Given the description of an element on the screen output the (x, y) to click on. 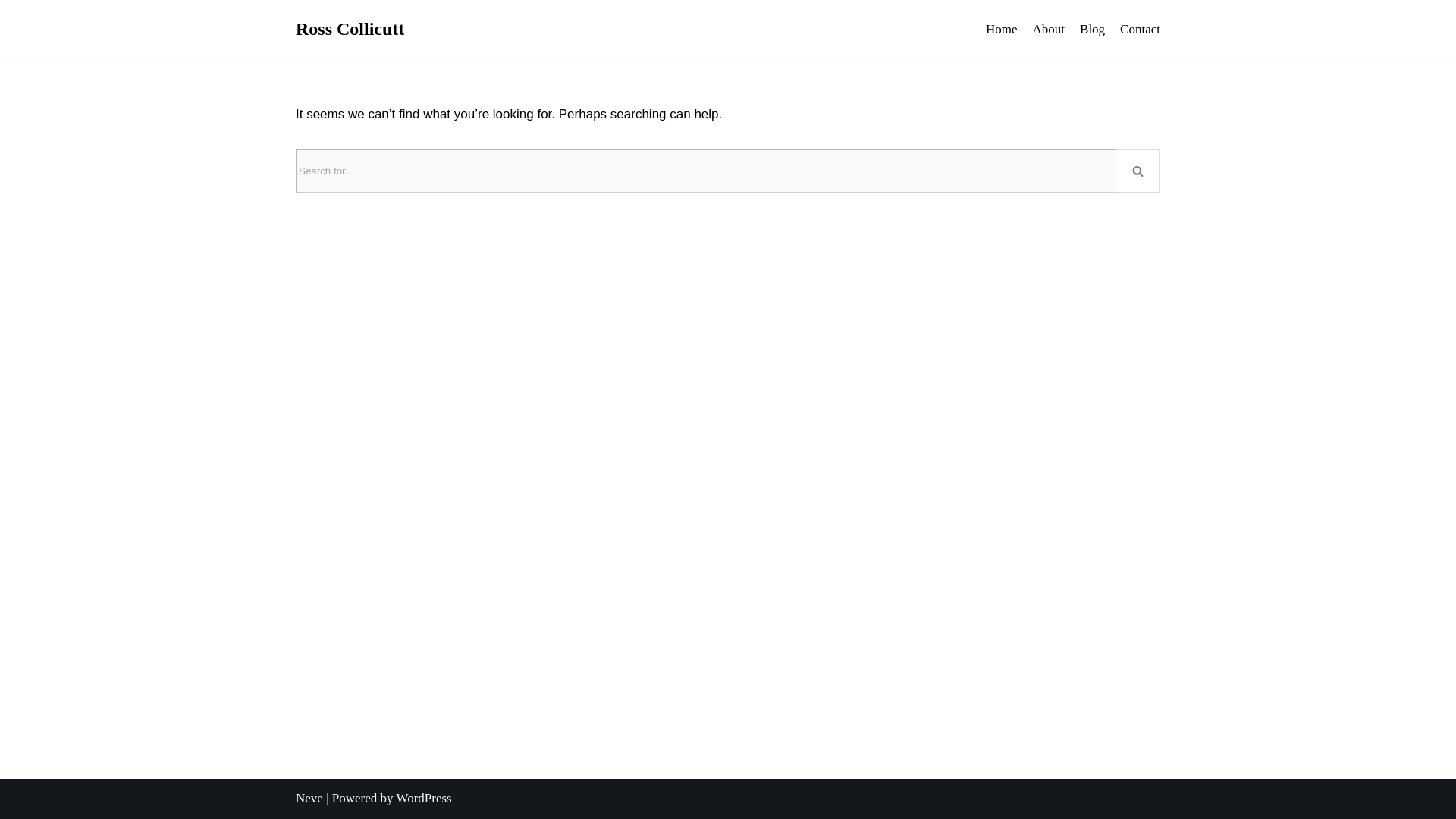
Blog (1092, 28)
About (1048, 28)
Home (1001, 28)
Neve (309, 798)
WordPress (423, 798)
Ross Collicutt (349, 29)
Contact (1139, 28)
Skip to content (11, 31)
Ross Collicutt (349, 29)
